Given the description of an element on the screen output the (x, y) to click on. 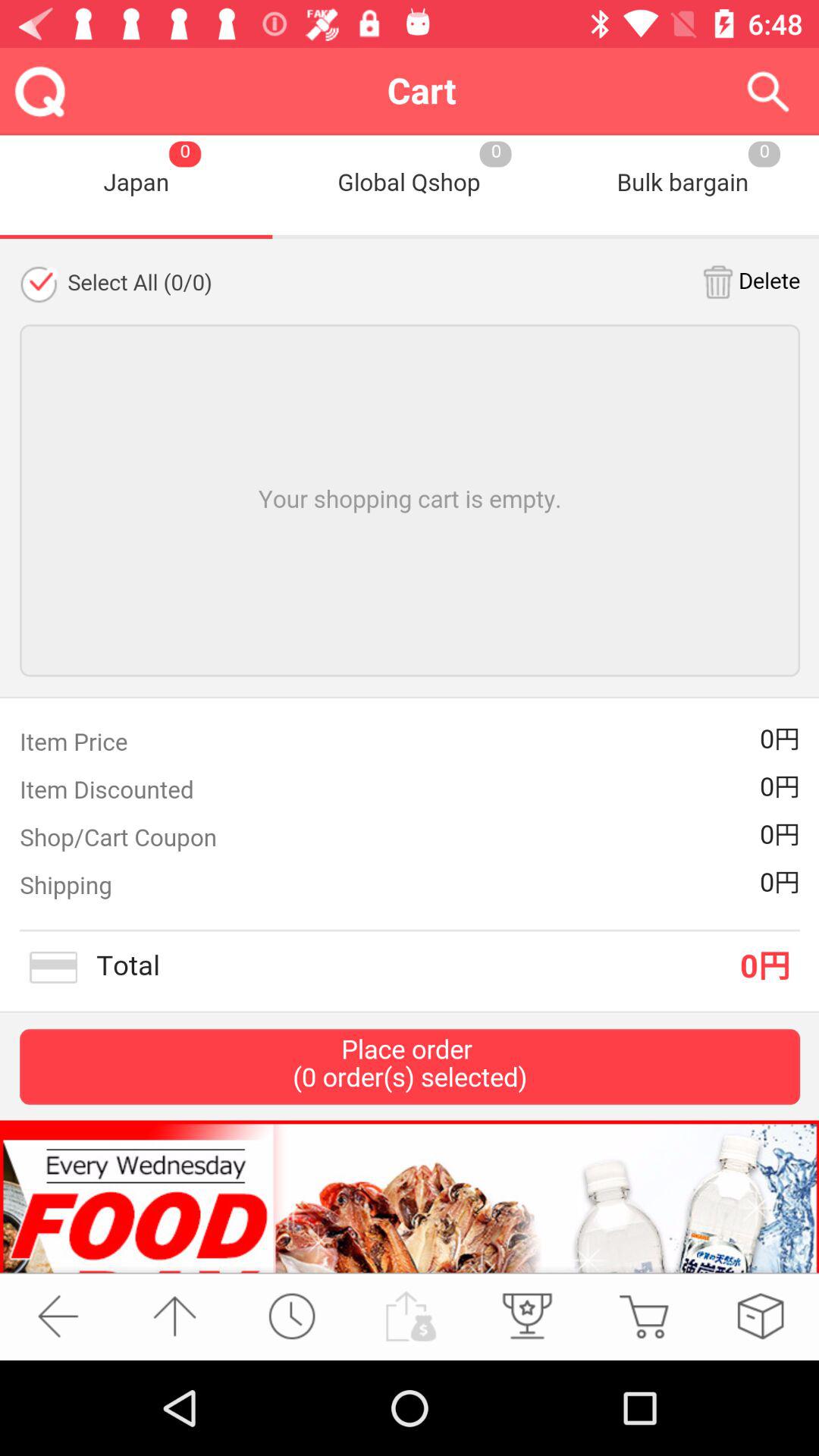
view cart (642, 1316)
